Given the description of an element on the screen output the (x, y) to click on. 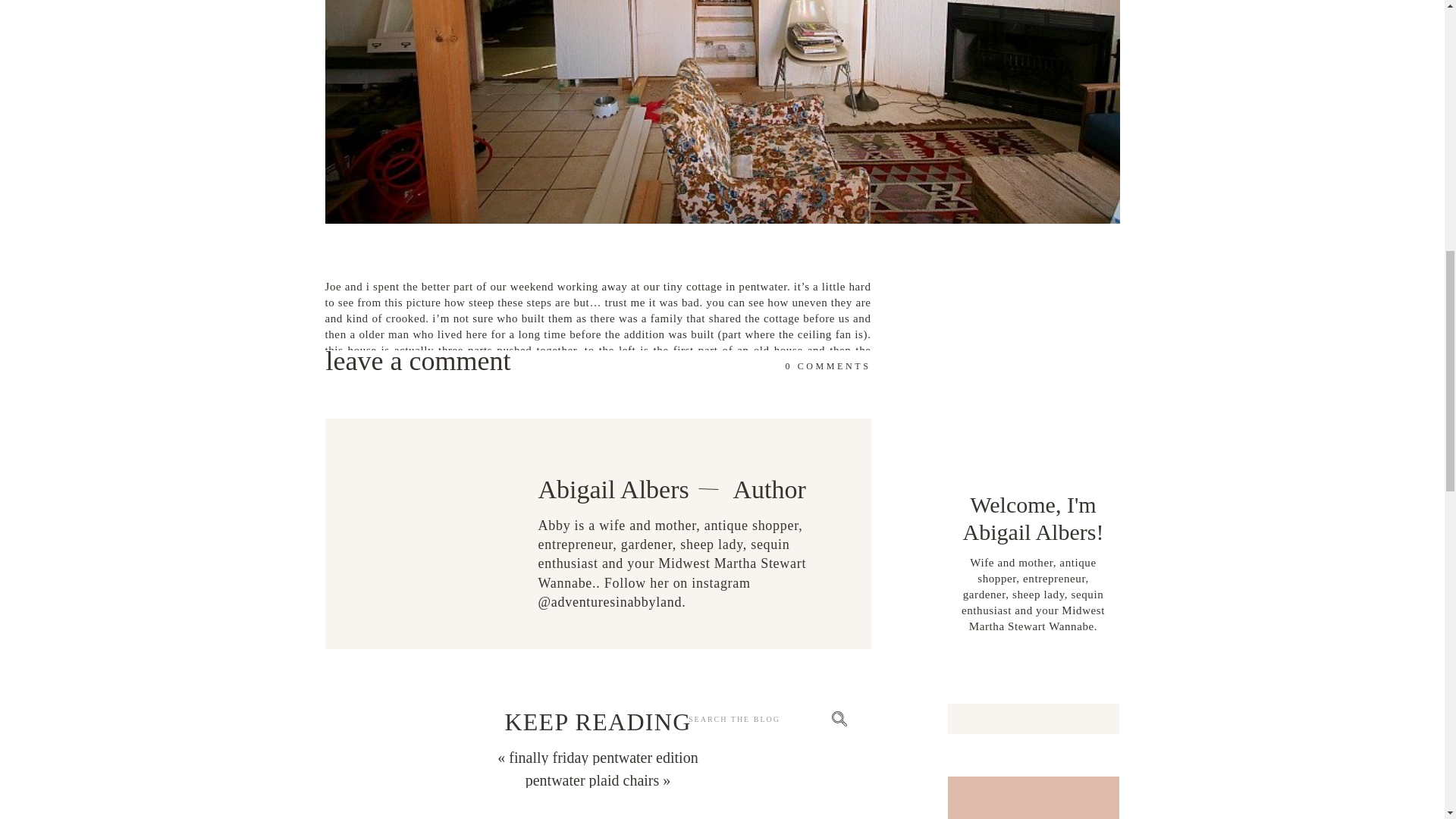
pentwater steps (597, 719)
finally friday pentwater edition (602, 757)
pentwater plaid chairs (592, 780)
0 COMMENTS (827, 366)
KEEP READING (597, 719)
